Given the description of an element on the screen output the (x, y) to click on. 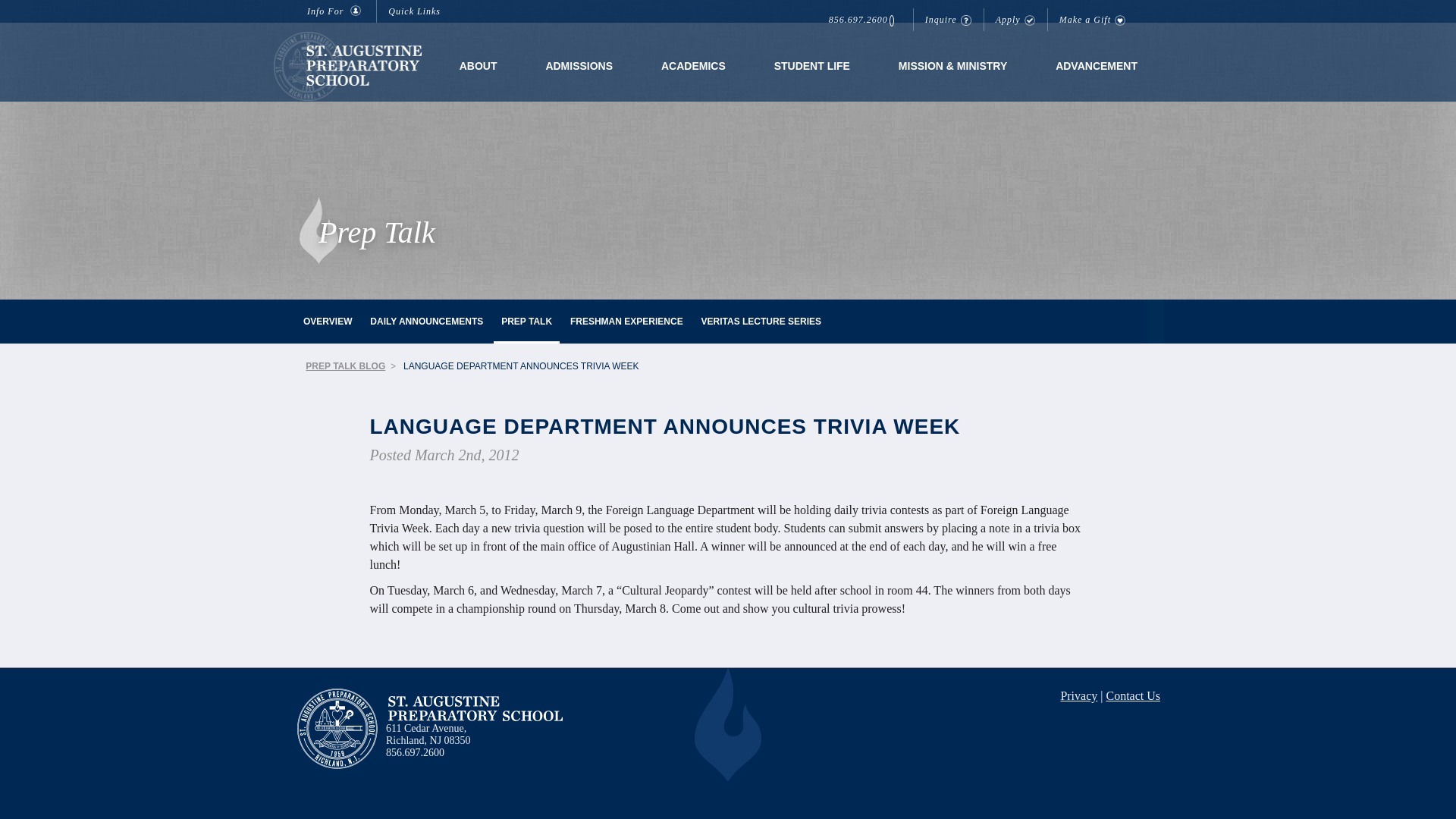
St. Augustine Preparatory School (474, 708)
Quick Links   (417, 11)
Go to Prep Talk Blog (345, 366)
St. Augustine Prep Seal (336, 728)
Info For (336, 11)
